Given the description of an element on the screen output the (x, y) to click on. 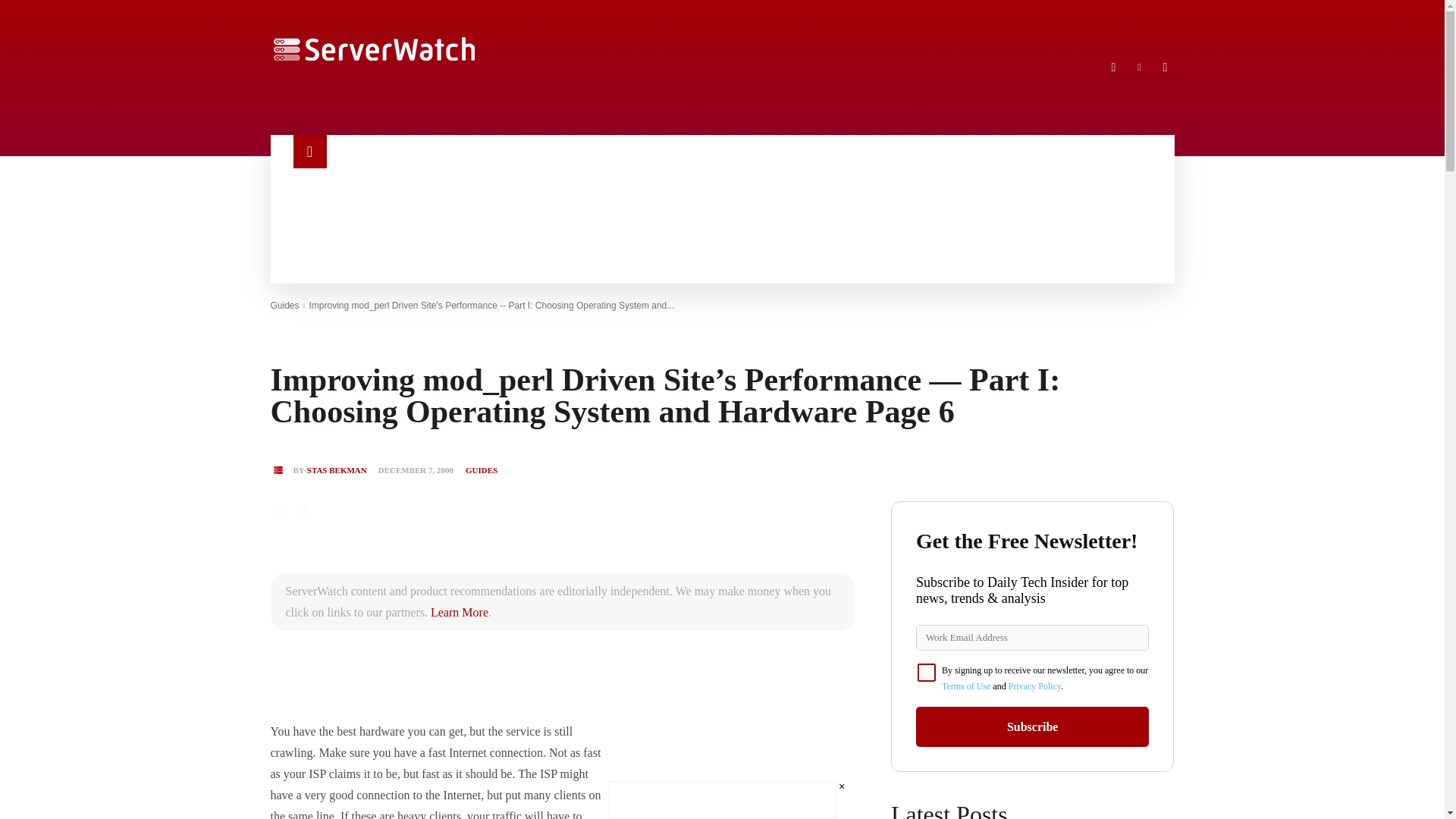
STAS BEKMAN (336, 470)
Facebook (1112, 67)
Linkedin (1138, 67)
GUIDES (481, 470)
Guides (283, 305)
View all posts in Guides (283, 305)
on (926, 672)
Twitter (1164, 67)
Learn More (458, 612)
Stas Bekman (280, 469)
